Given the description of an element on the screen output the (x, y) to click on. 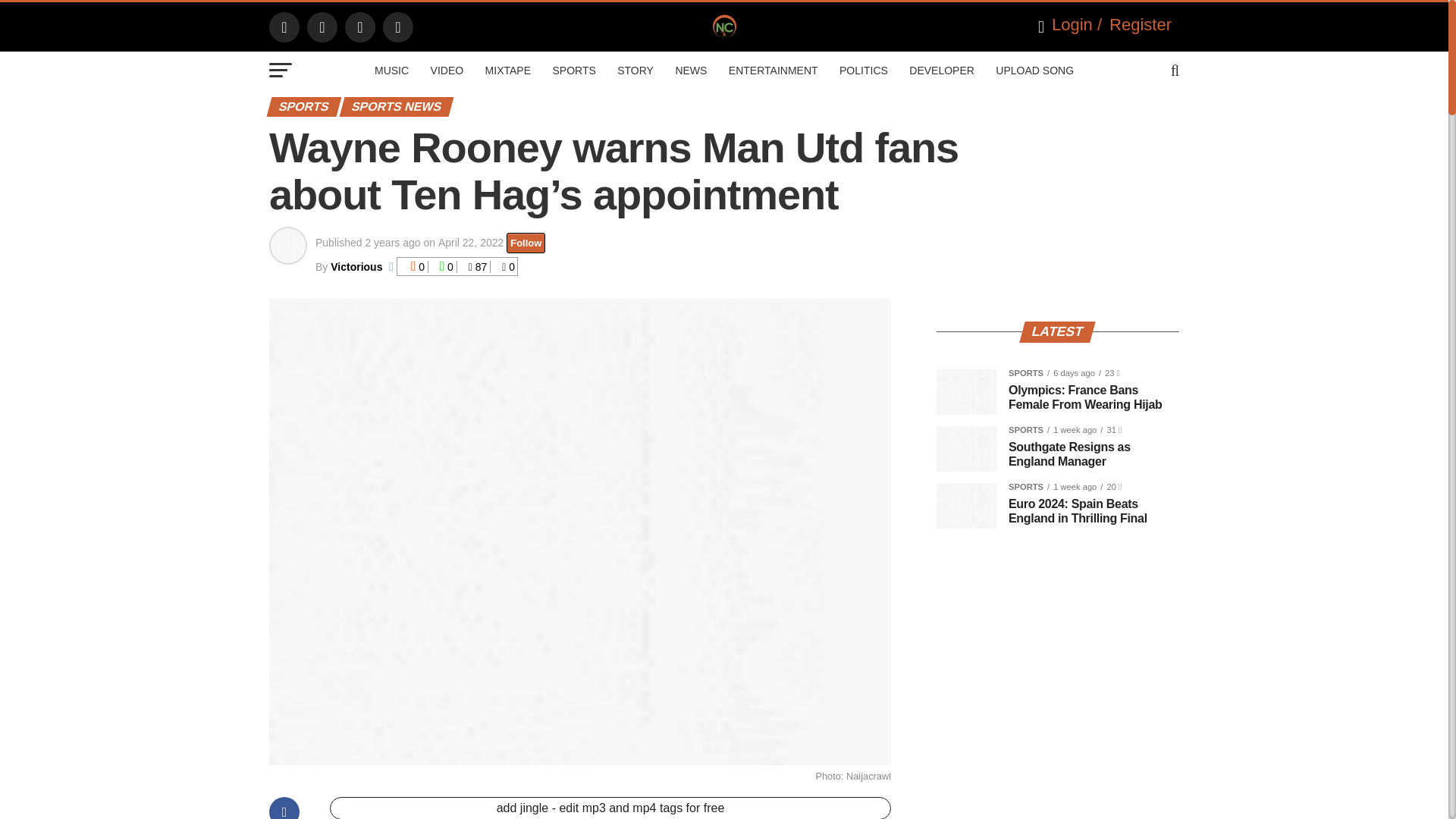
Posts by Victorious (355, 266)
